Given the description of an element on the screen output the (x, y) to click on. 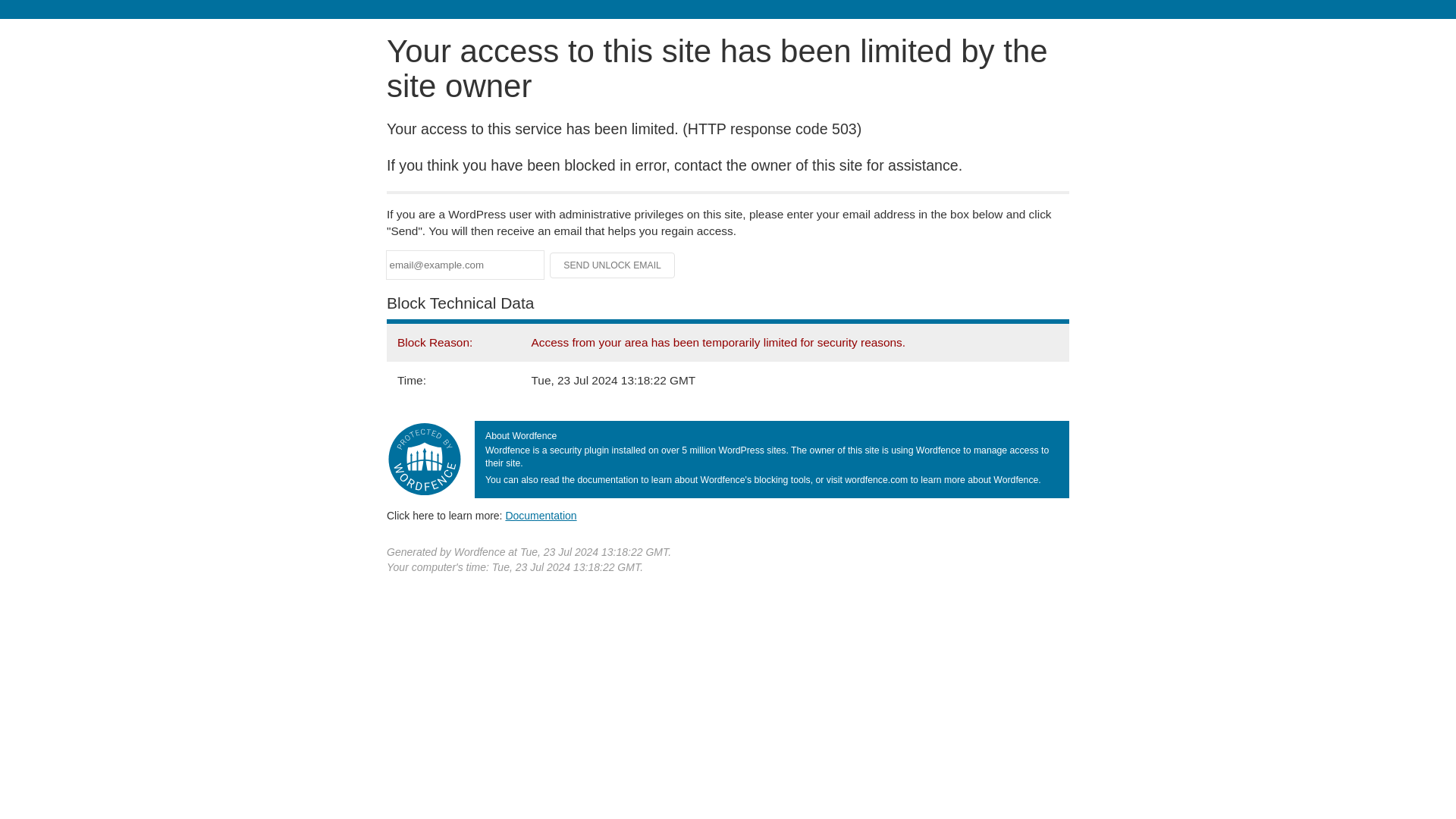
Documentation (540, 515)
Send Unlock Email (612, 265)
Send Unlock Email (612, 265)
